Given the description of an element on the screen output the (x, y) to click on. 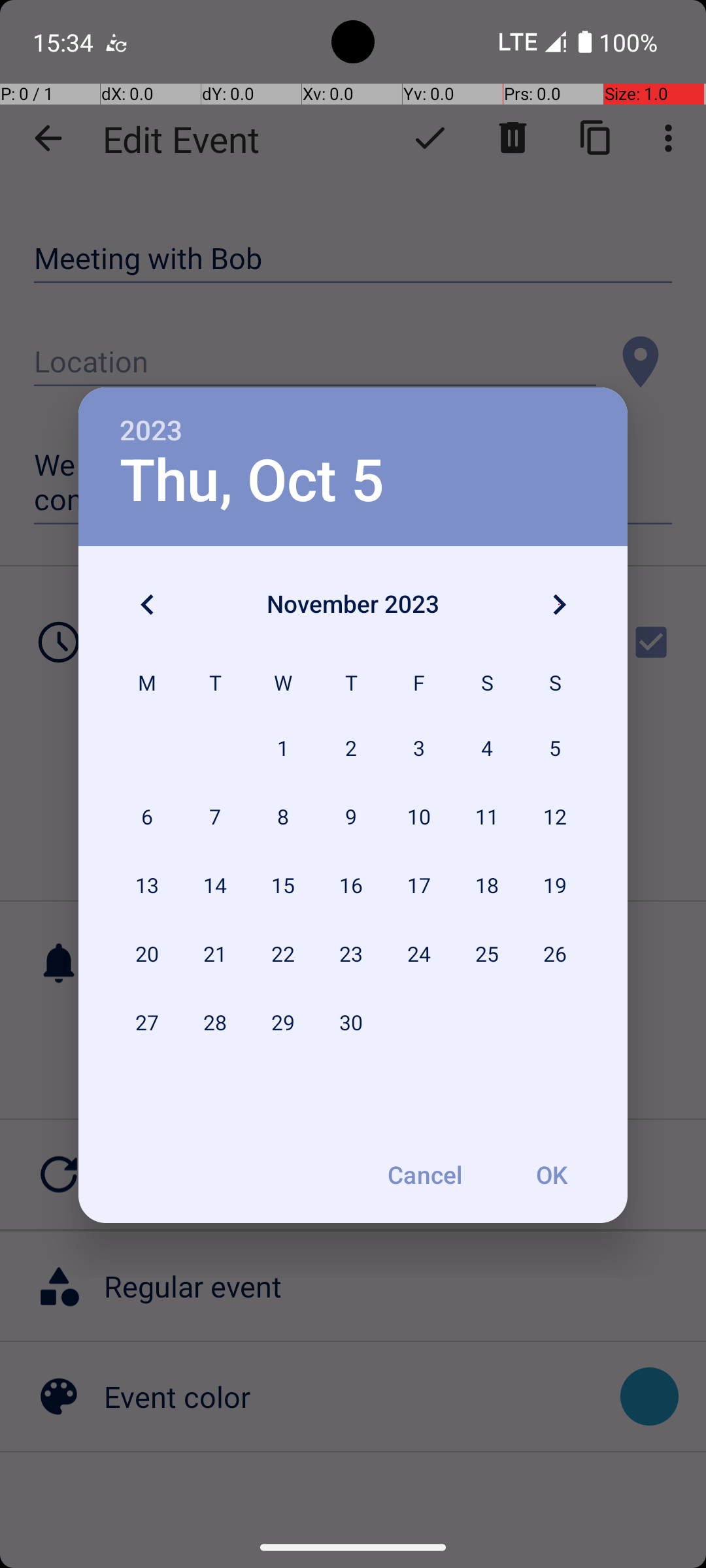
Thu, Oct 5 Element type: android.widget.TextView (251, 480)
